Given the description of an element on the screen output the (x, y) to click on. 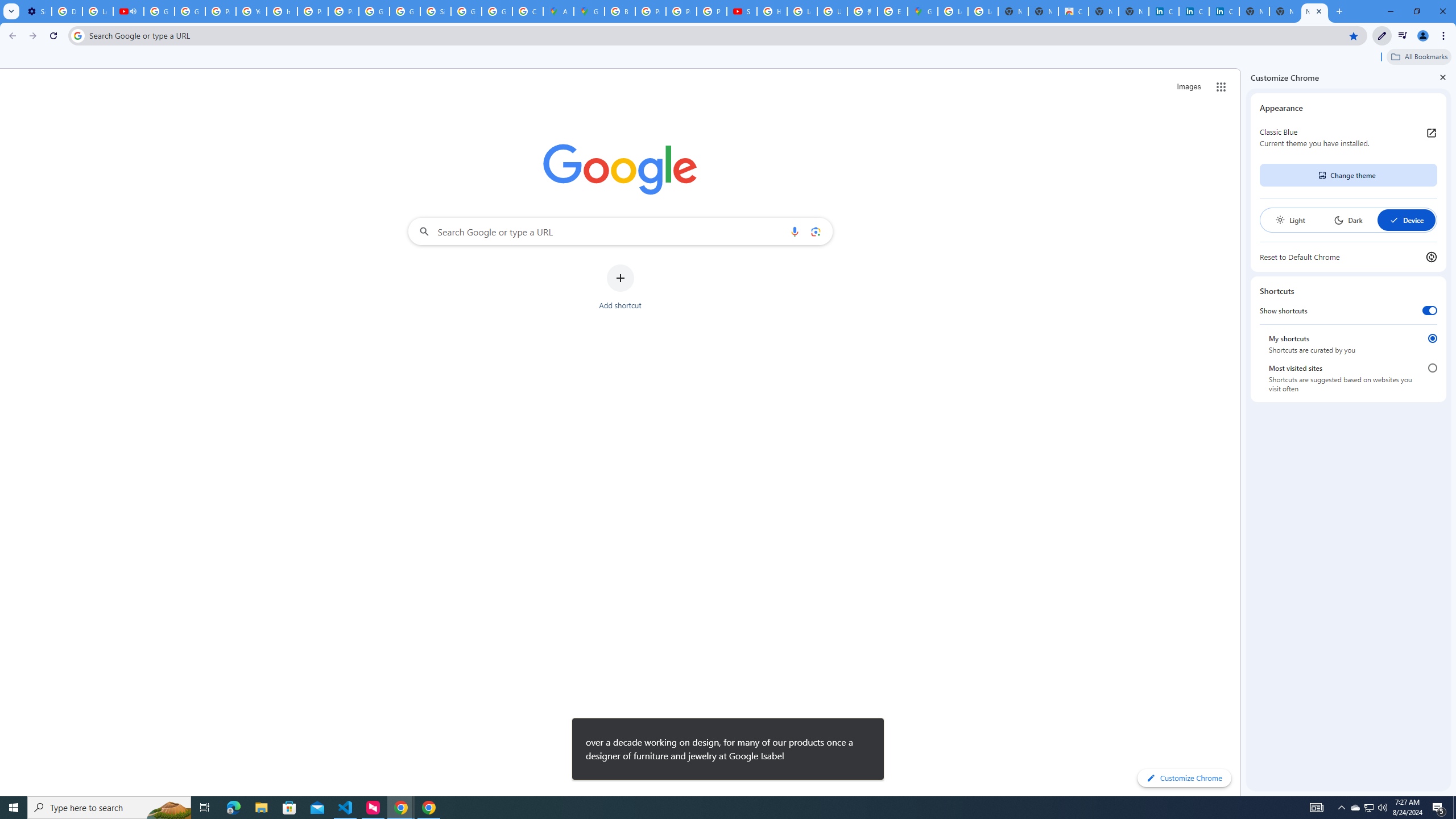
Blogger Policies and Guidelines - Transparency Center (619, 11)
Light (1289, 219)
My shortcuts (1432, 338)
Classic Blue Current theme you have installed. (1347, 137)
Delete photos & videos - Computer - Google Photos Help (66, 11)
